Given the description of an element on the screen output the (x, y) to click on. 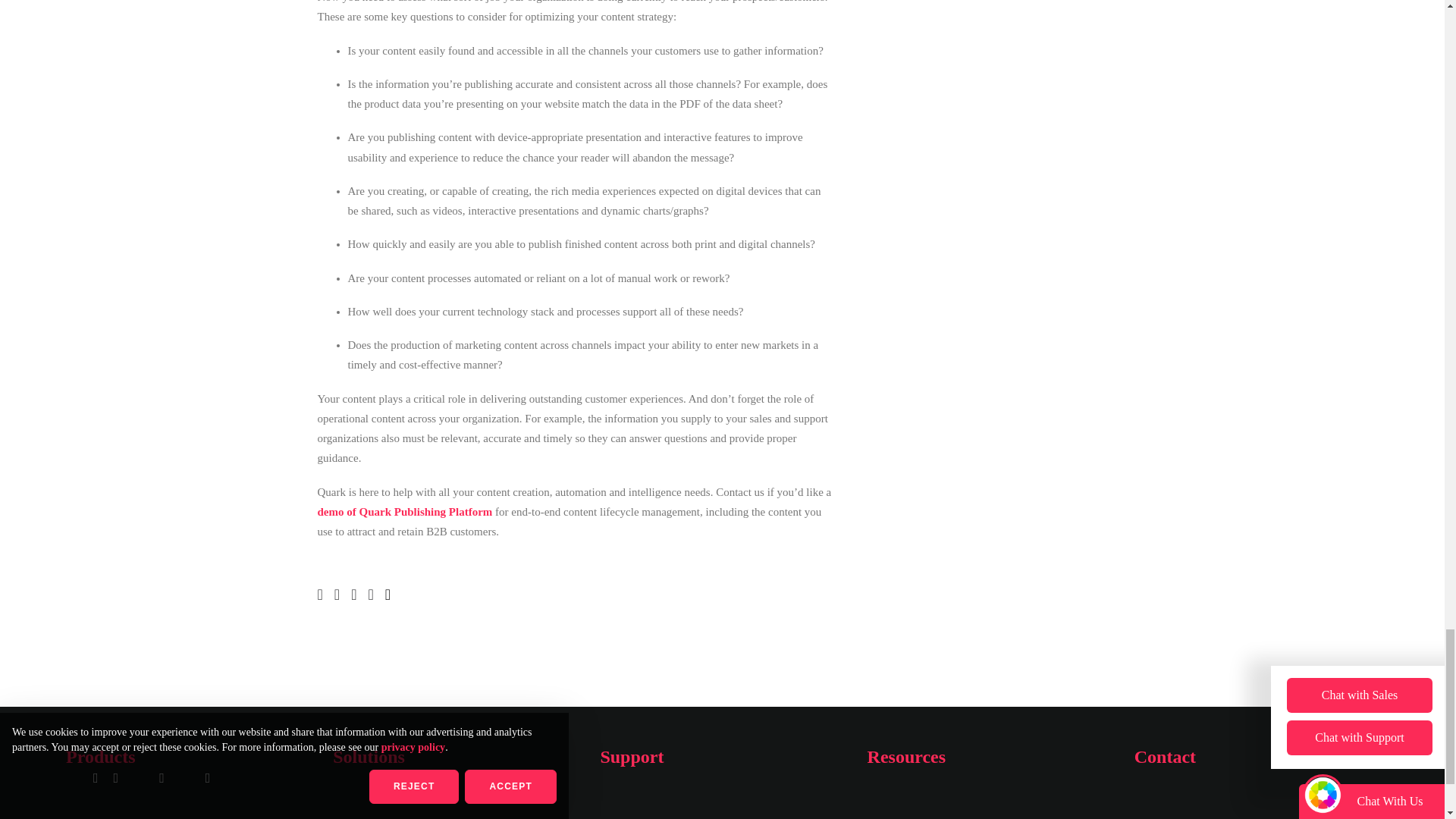
Share on Linkedin (324, 594)
Tweet this (358, 594)
Share on Facebook (341, 594)
